Given the description of an element on the screen output the (x, y) to click on. 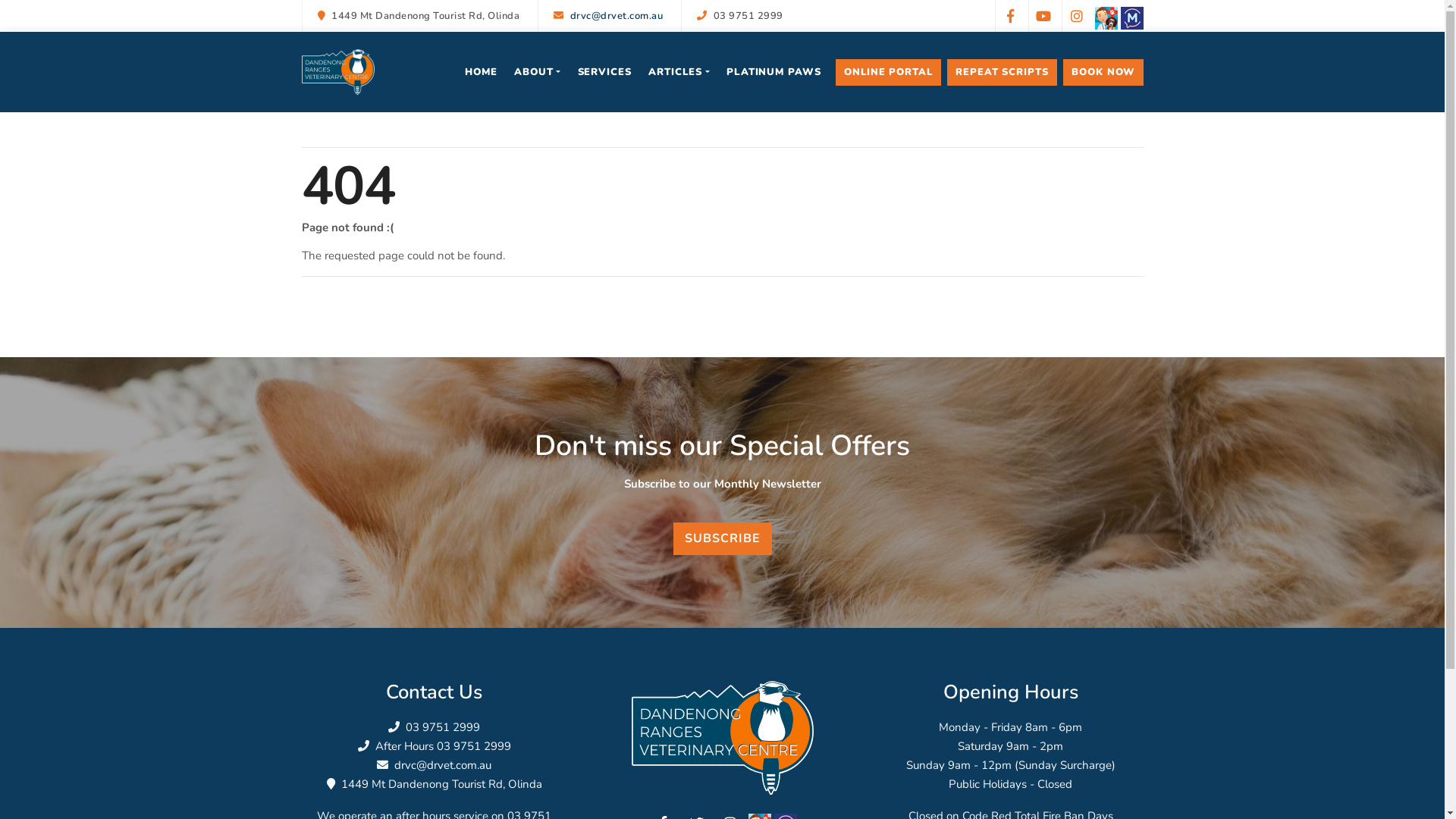
HOME Element type: text (480, 71)
Facebook Element type: hover (1009, 15)
Medechat Element type: hover (1131, 17)
drvc@drvet.com.au Element type: text (442, 764)
PLATINUM PAWS Element type: text (773, 71)
SERVICES Element type: text (604, 71)
ONLINE PORTAL Element type: text (888, 72)
ARTICLES Element type: text (679, 71)
BOOK NOW Element type: text (1103, 72)
ABOUT Element type: text (536, 71)
Vetcheck Element type: hover (1106, 17)
REPEAT SCRIPTS Element type: text (1002, 72)
Instagram Element type: hover (1076, 15)
SUBSCRIBE Element type: text (722, 538)
drvc@drvet.com.au Element type: text (616, 15)
Twitter Element type: hover (1043, 15)
